Given the description of an element on the screen output the (x, y) to click on. 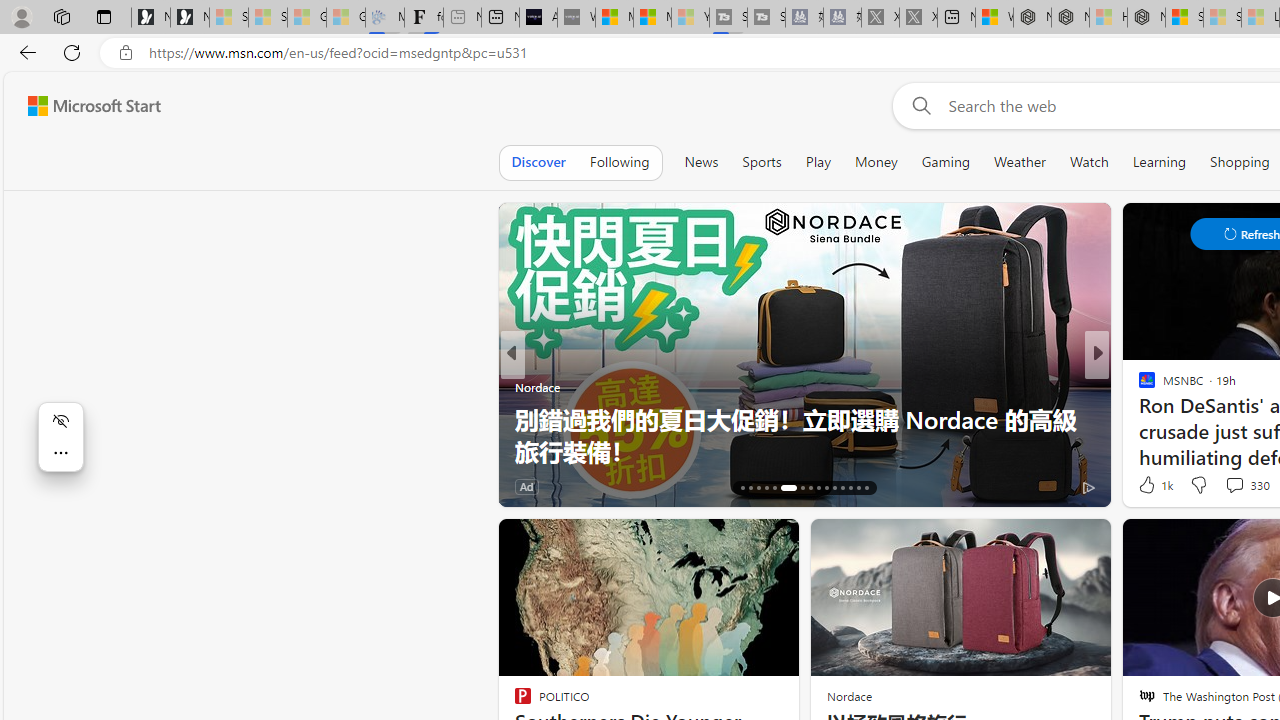
AutomationID: tab-18 (757, 487)
Comments turned off for this story (1222, 486)
AutomationID: tab-21 (788, 487)
More actions (60, 452)
